Given the description of an element on the screen output the (x, y) to click on. 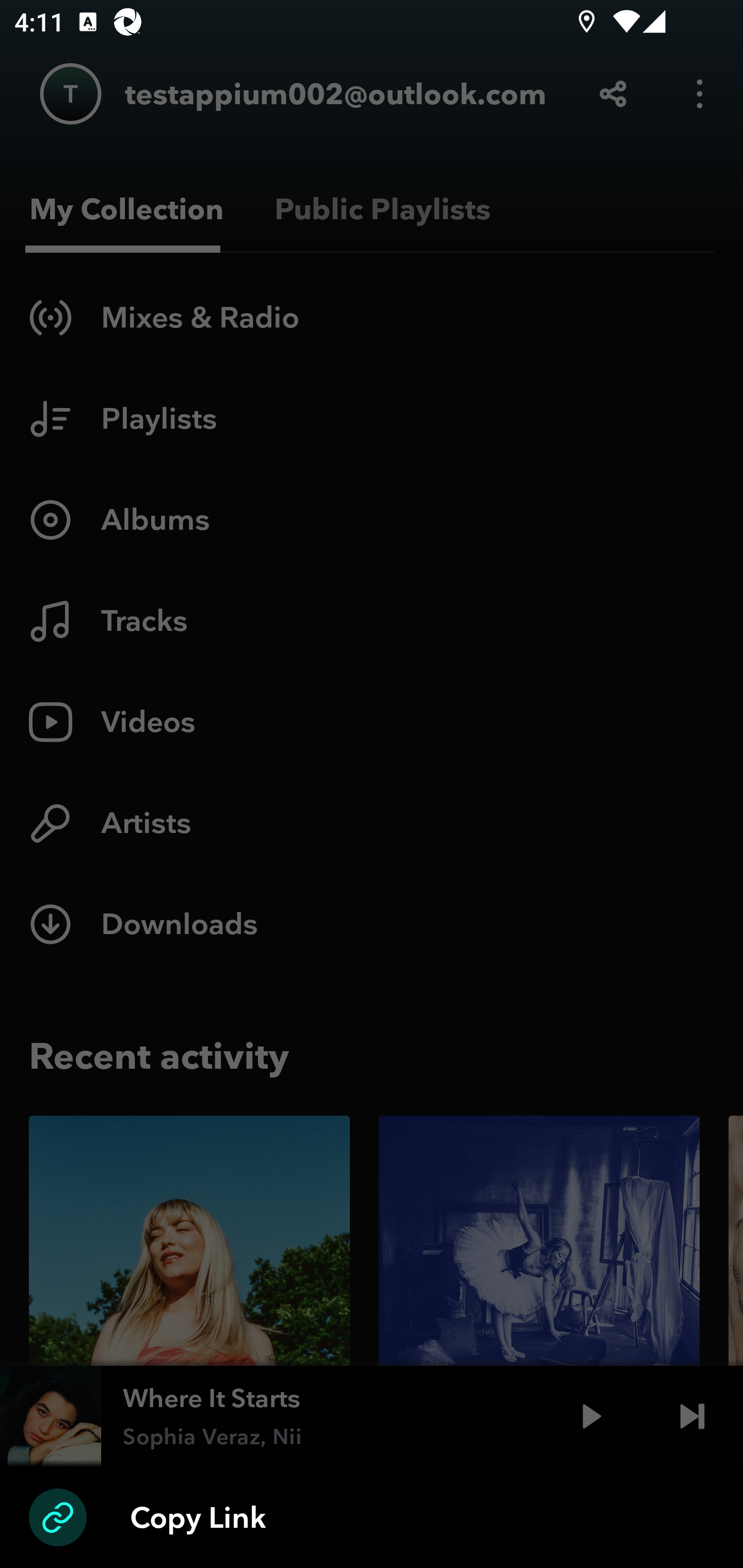
Copy Link (371, 1517)
